Given the description of an element on the screen output the (x, y) to click on. 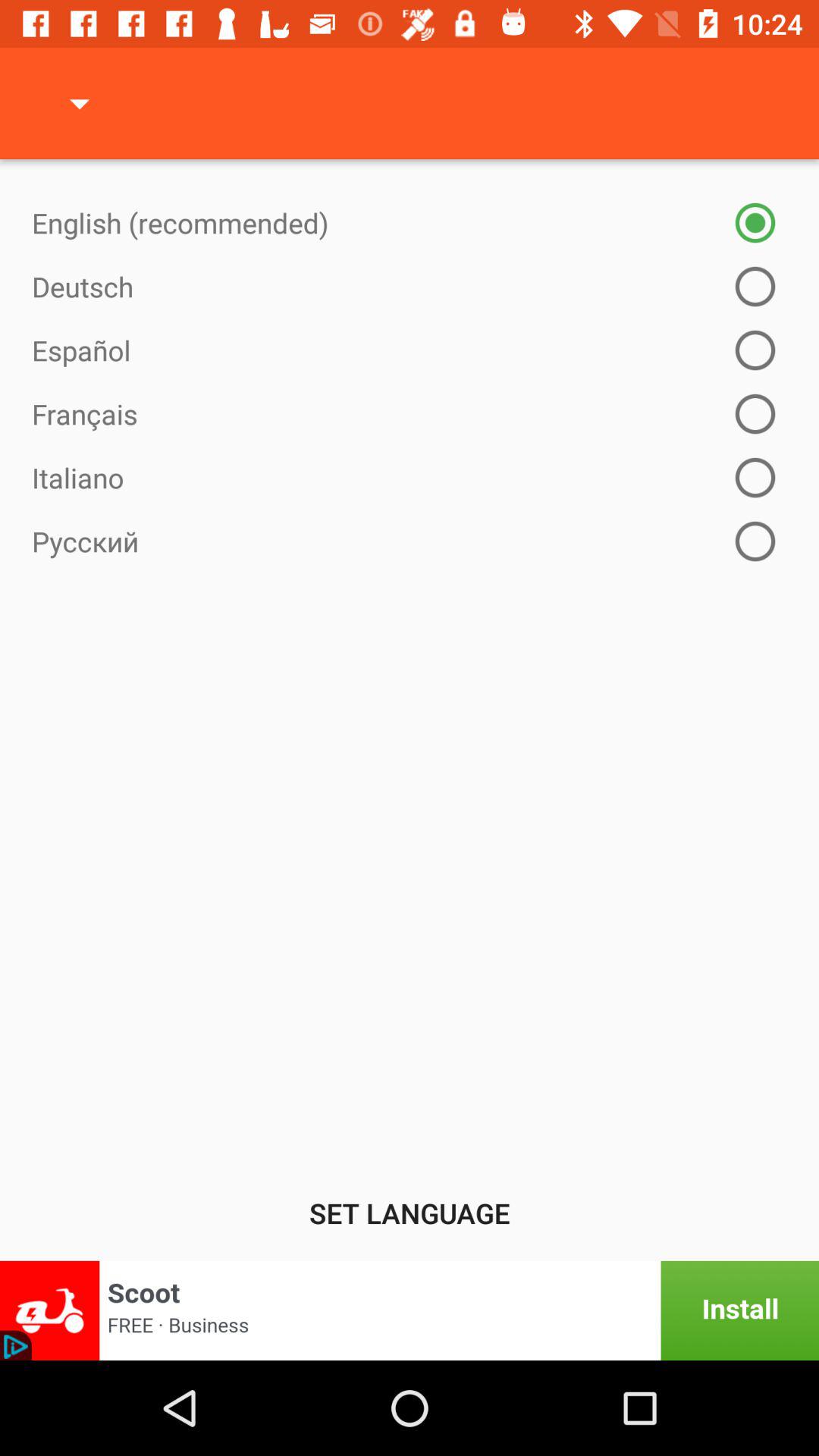
choose item below set language (409, 1310)
